Given the description of an element on the screen output the (x, y) to click on. 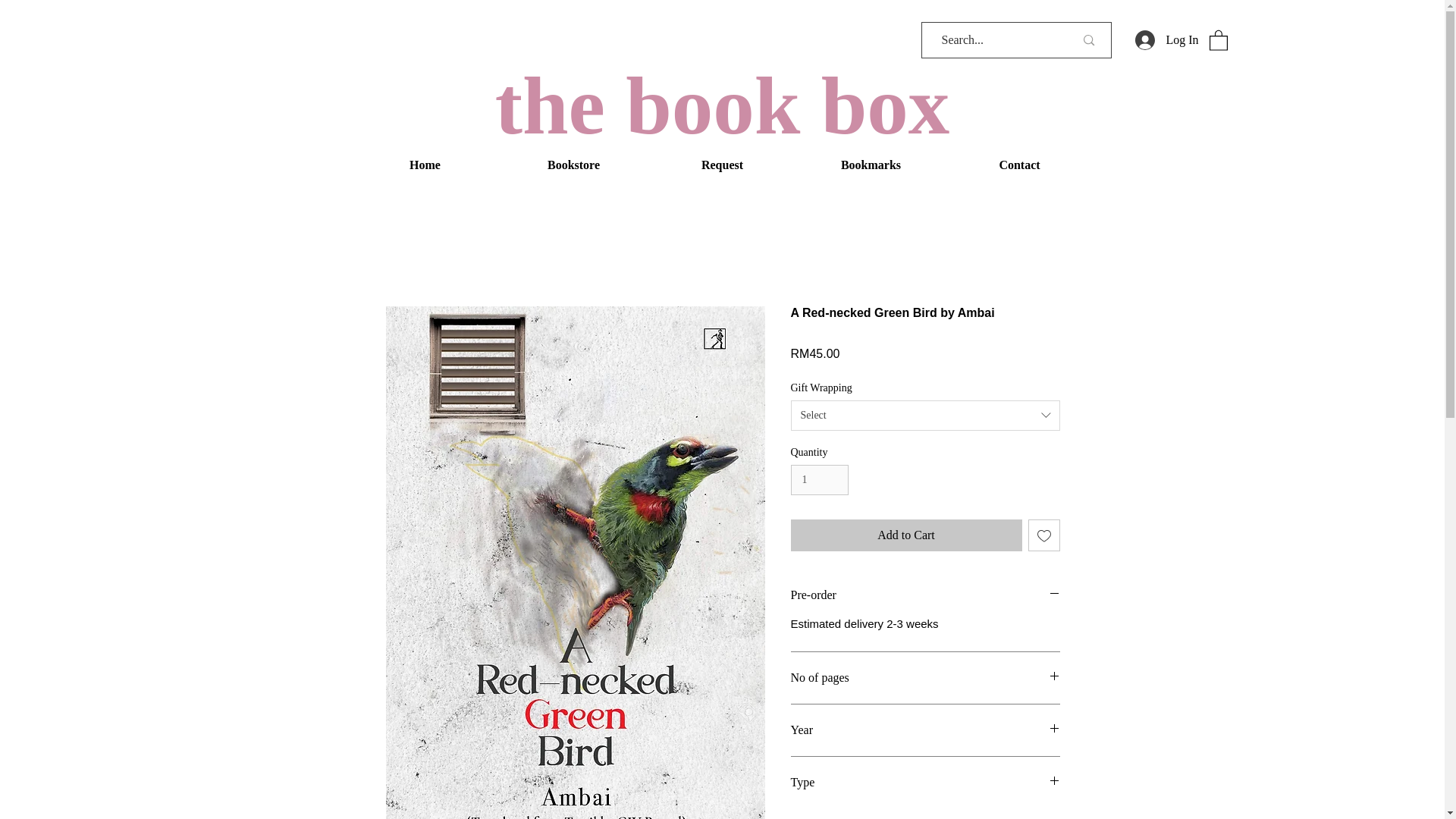
Request (721, 164)
Add to Cart (906, 535)
1 (818, 480)
Select (924, 415)
Log In (1166, 39)
Year (924, 729)
Pre-order (924, 595)
Type (924, 782)
Contact (1018, 164)
Bookstore (573, 164)
Home (424, 164)
No of pages (924, 677)
Bookmarks (870, 164)
